Given the description of an element on the screen output the (x, y) to click on. 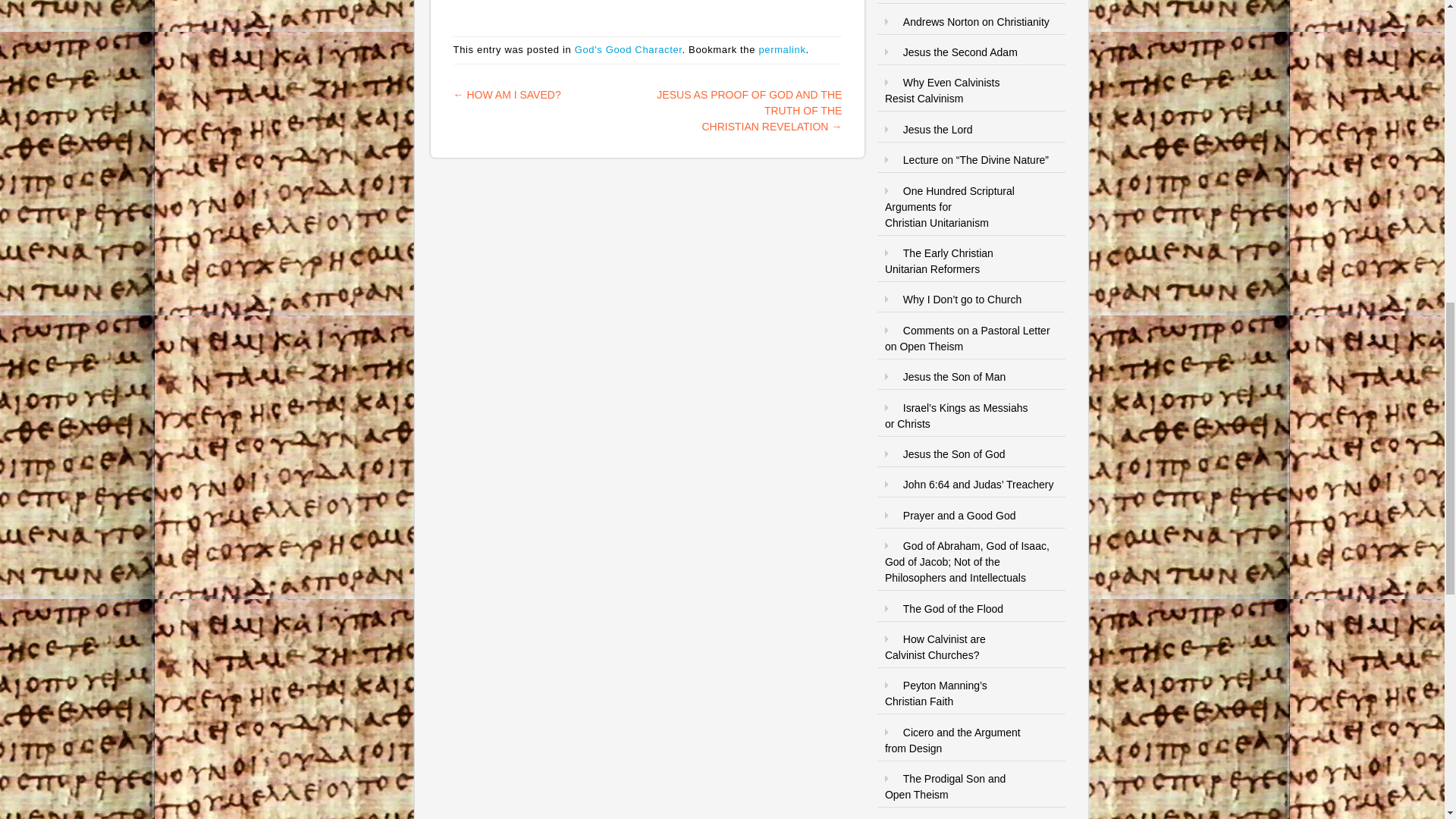
Comments on a Pastoral Letter on Open Theism (967, 338)
Jesus the Lord (937, 129)
God's Good Character (628, 49)
Why Even Calvinists Resist Calvinism (941, 90)
One Hundred Scriptural Arguments for Christian Unitarianism (949, 207)
Jesus the Son of God (954, 453)
permalink (781, 49)
Sign me up (1361, 195)
Jesus the Second Adam (959, 51)
Jesus the Son of Man (954, 377)
